Given the description of an element on the screen output the (x, y) to click on. 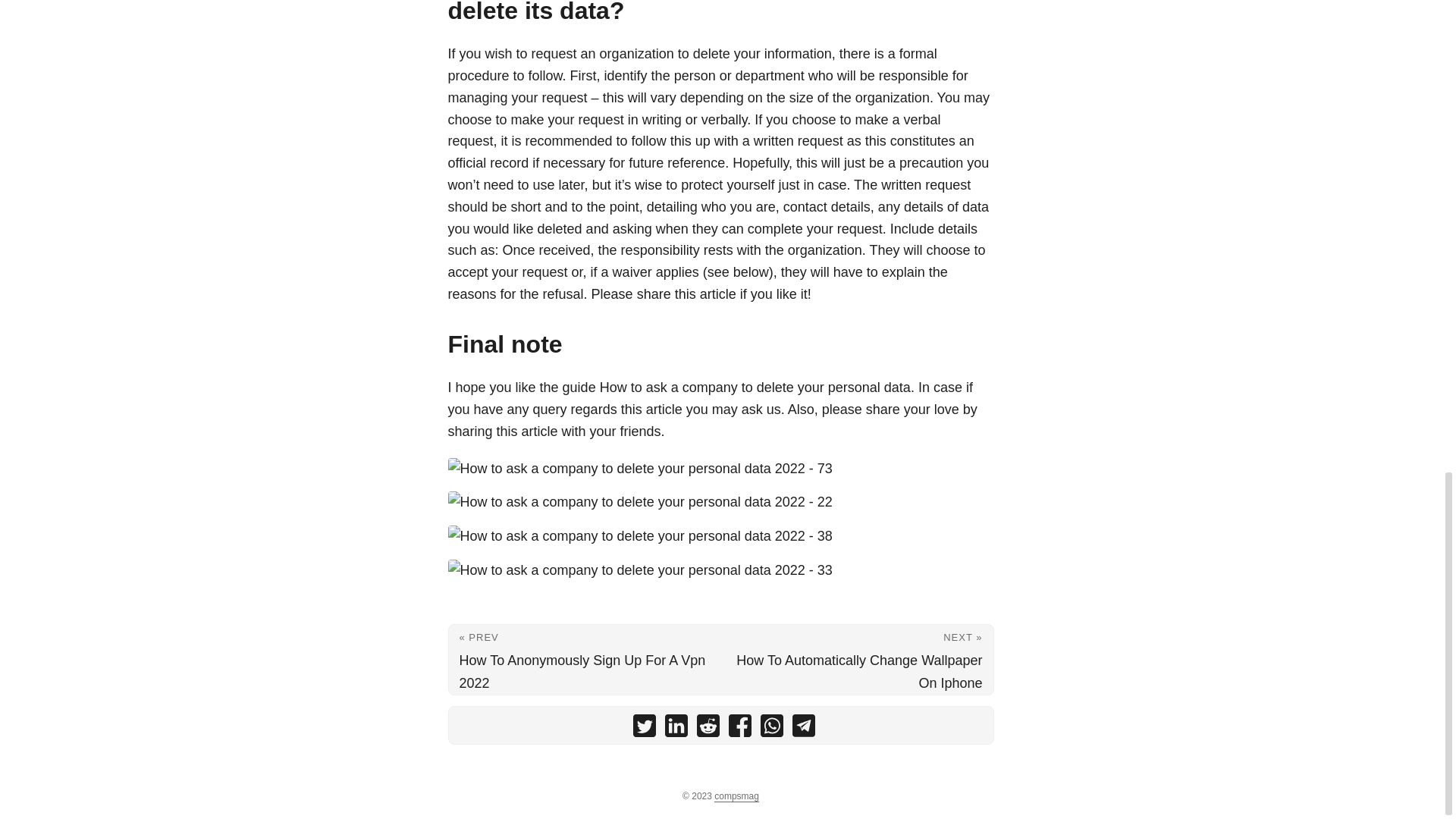
compsmag (736, 796)
